Given the description of an element on the screen output the (x, y) to click on. 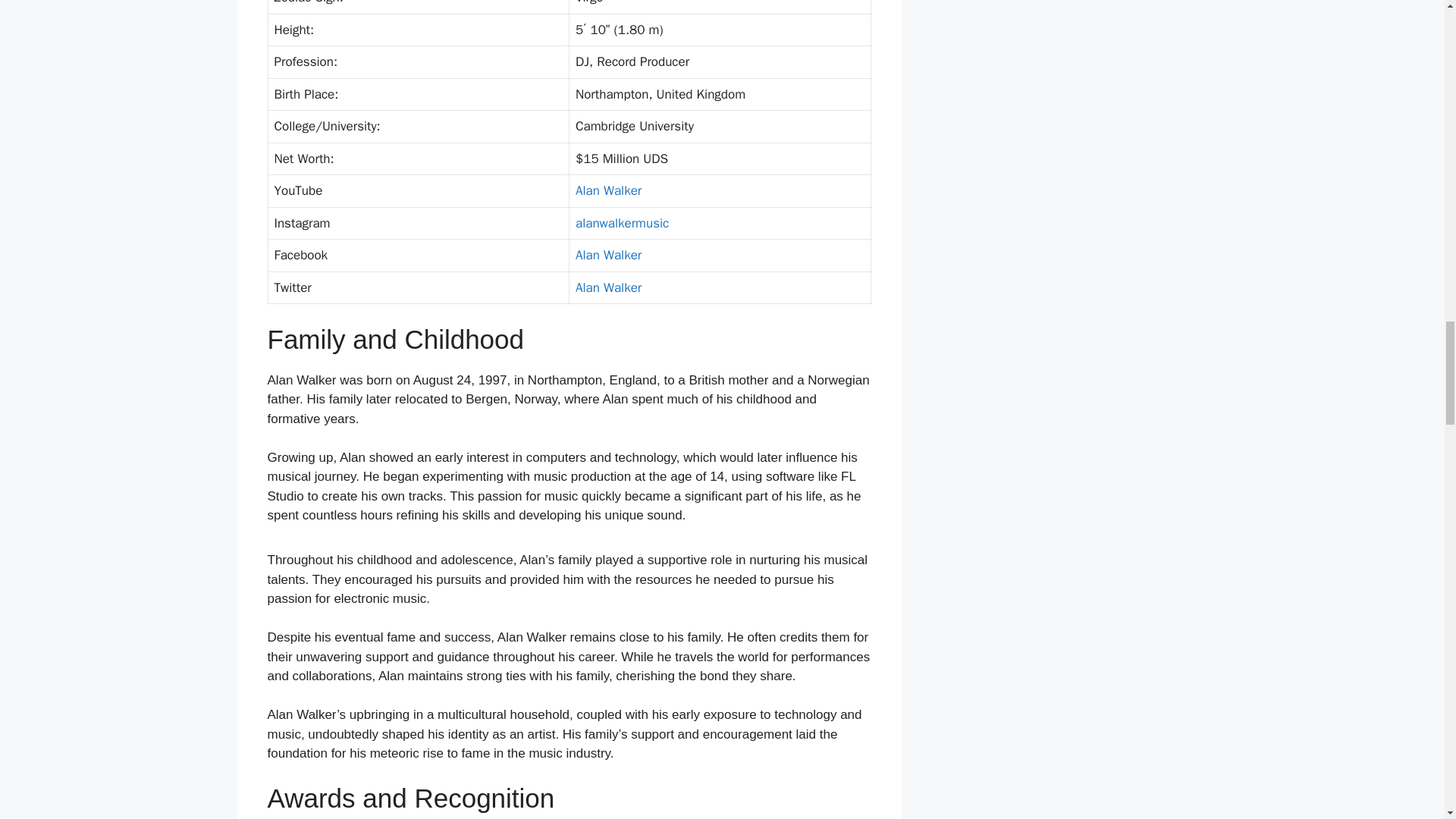
Alan Walker (608, 287)
Alan Walker (608, 190)
Alan Walker (608, 254)
alanwalkermusic (621, 222)
